Given the description of an element on the screen output the (x, y) to click on. 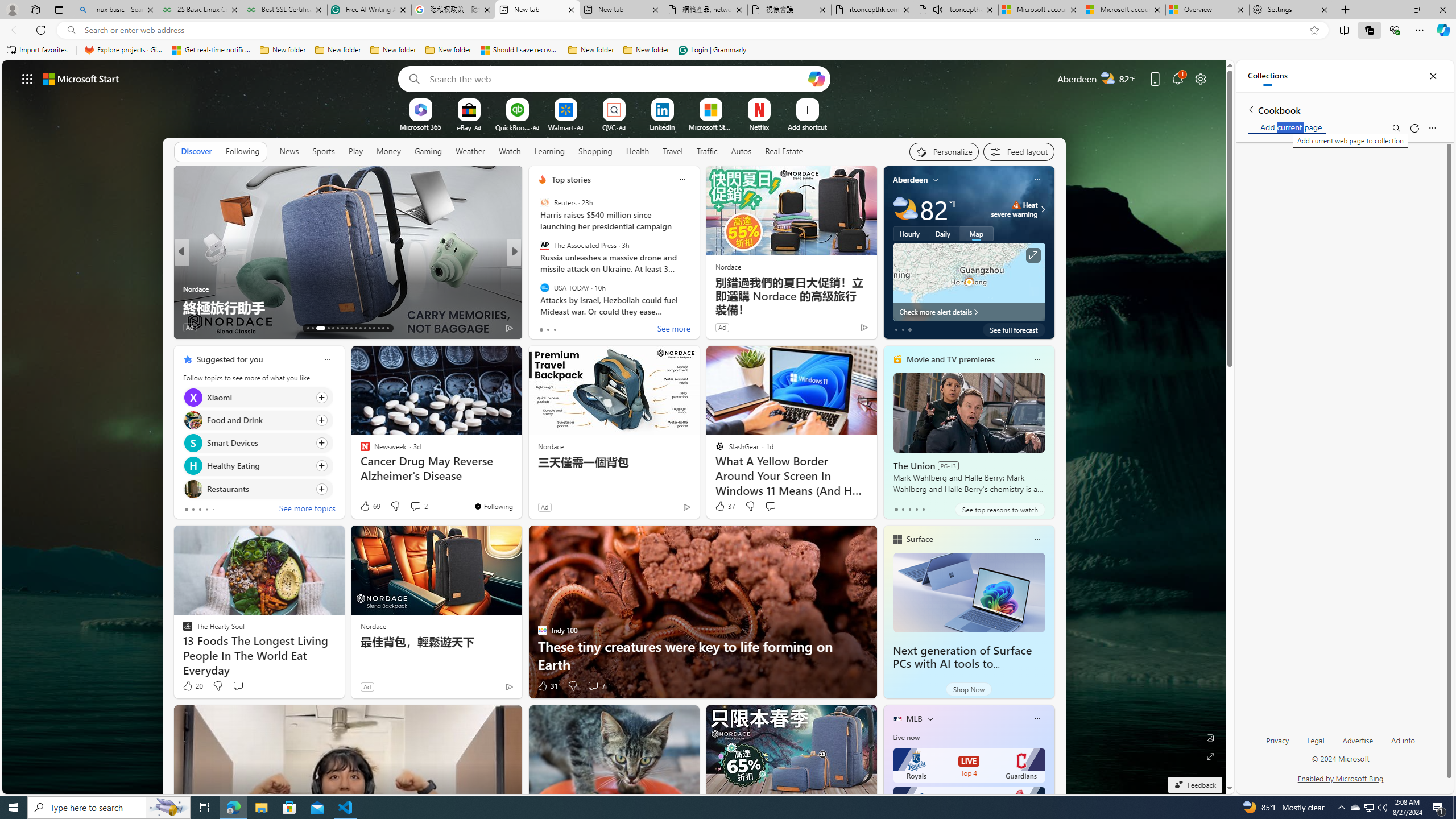
Click to follow topic Smart Devices (257, 442)
AutomationID: tab-16 (325, 328)
20 Like (192, 685)
AutomationID: tab-23 (360, 328)
Eat This, Not That! (537, 270)
linux basic - Search (116, 9)
